Given the description of an element on the screen output the (x, y) to click on. 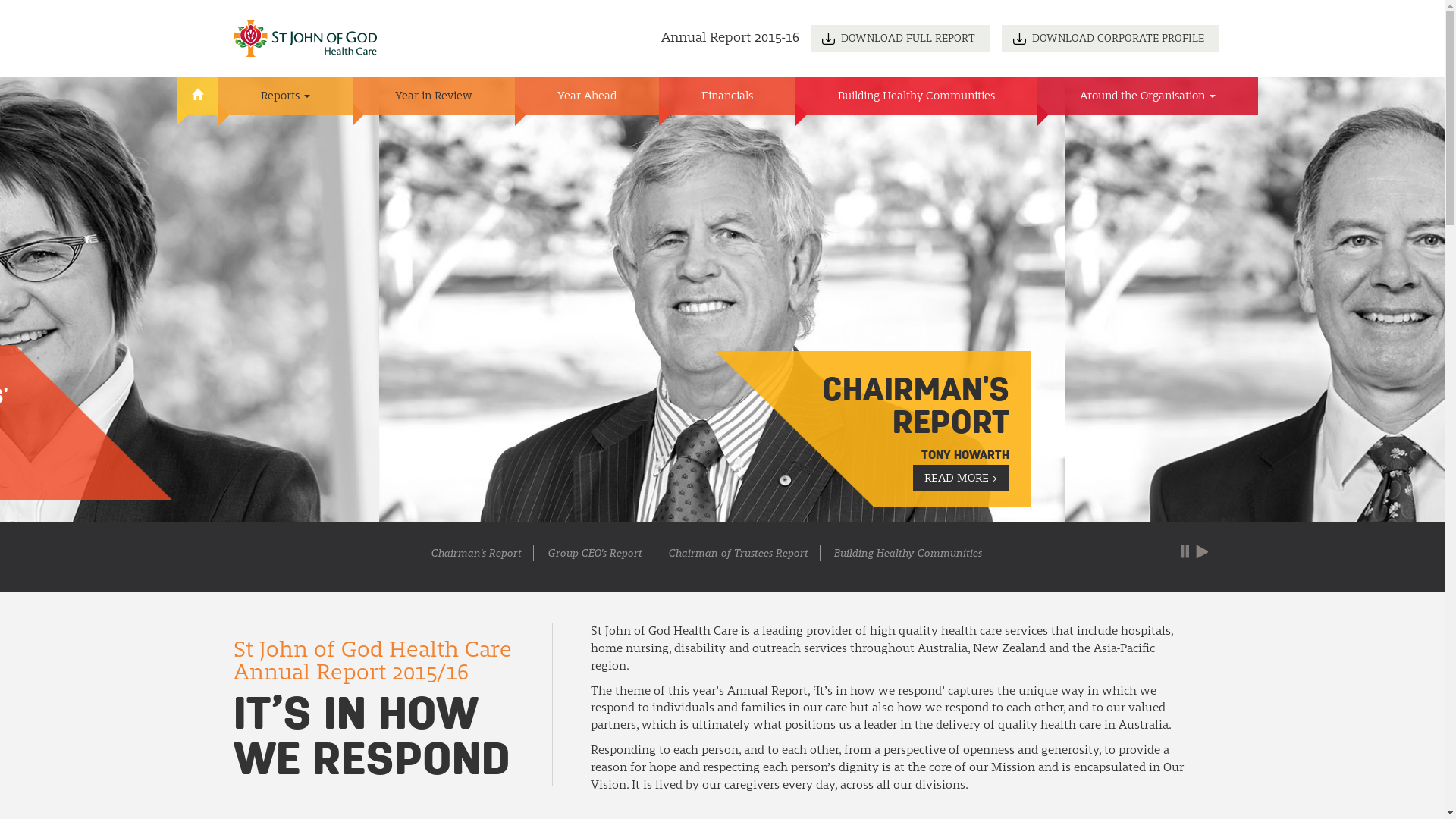
Year Ahead Element type: text (586, 95)
Chairman's Report Element type: text (476, 553)
DOWNLOAD CORPORATE PROFILE Element type: text (1109, 38)
Building Healthy Communities Element type: text (907, 553)
Group CEO's Report Element type: text (594, 553)
Reports Element type: text (285, 95)
Around the Organisation Element type: text (1147, 95)
DOWNLOAD FULL REPORT Element type: text (899, 38)
Year in Review Element type: text (432, 95)
Pause slideshow Element type: text (1184, 551)
READ MORE > Element type: text (961, 477)
Chairman of Trustees Report Element type: text (737, 553)
Building Healthy Communities Element type: text (915, 95)
Financials Element type: text (726, 95)
Play slideshow Element type: text (1201, 551)
